Given the description of an element on the screen output the (x, y) to click on. 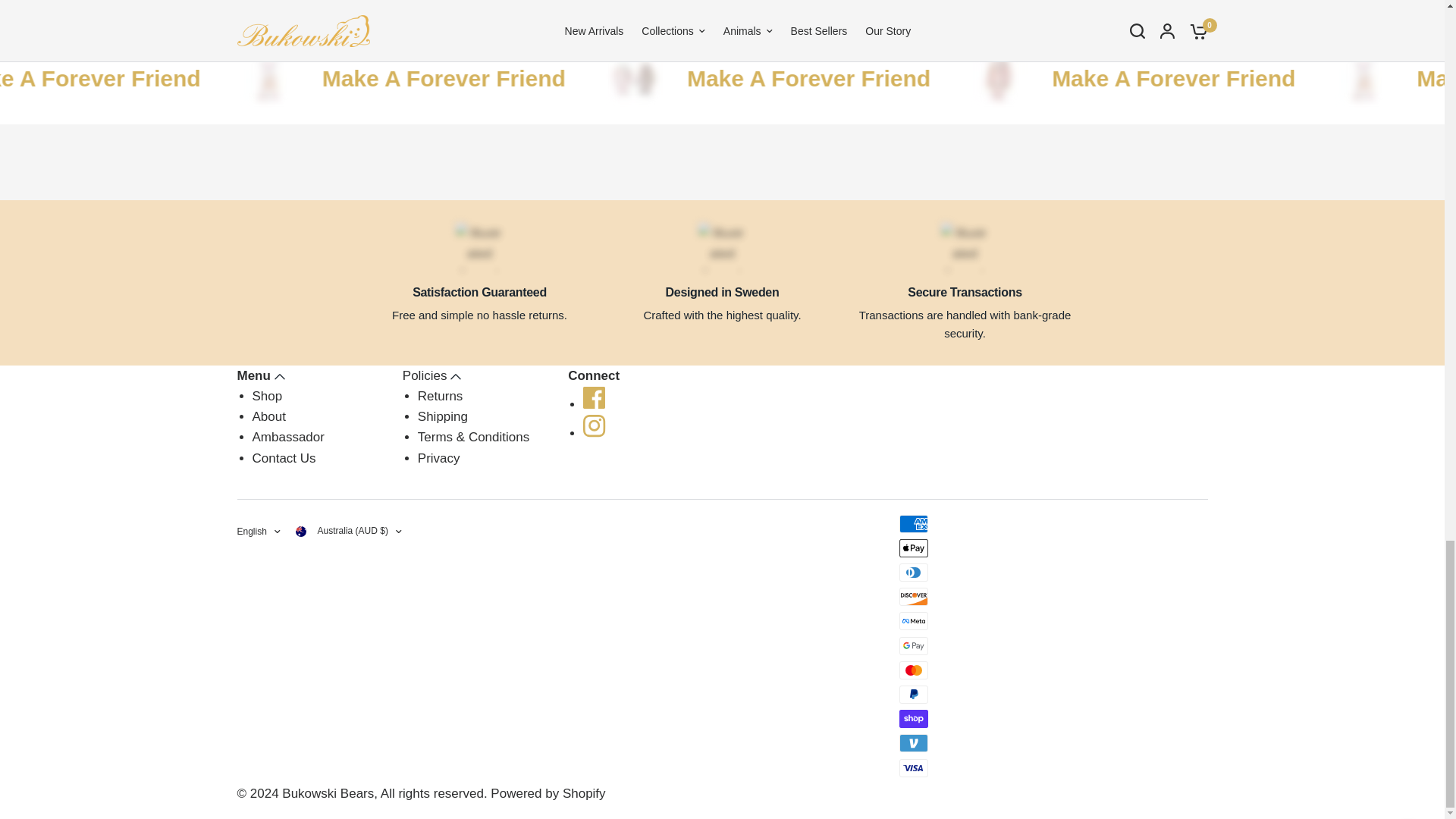
Make A Forever Friend (706, 78)
Make A Forever Friend (1067, 78)
Make A Forever Friend (346, 78)
Make A Forever Friend (82, 78)
